Given the description of an element on the screen output the (x, y) to click on. 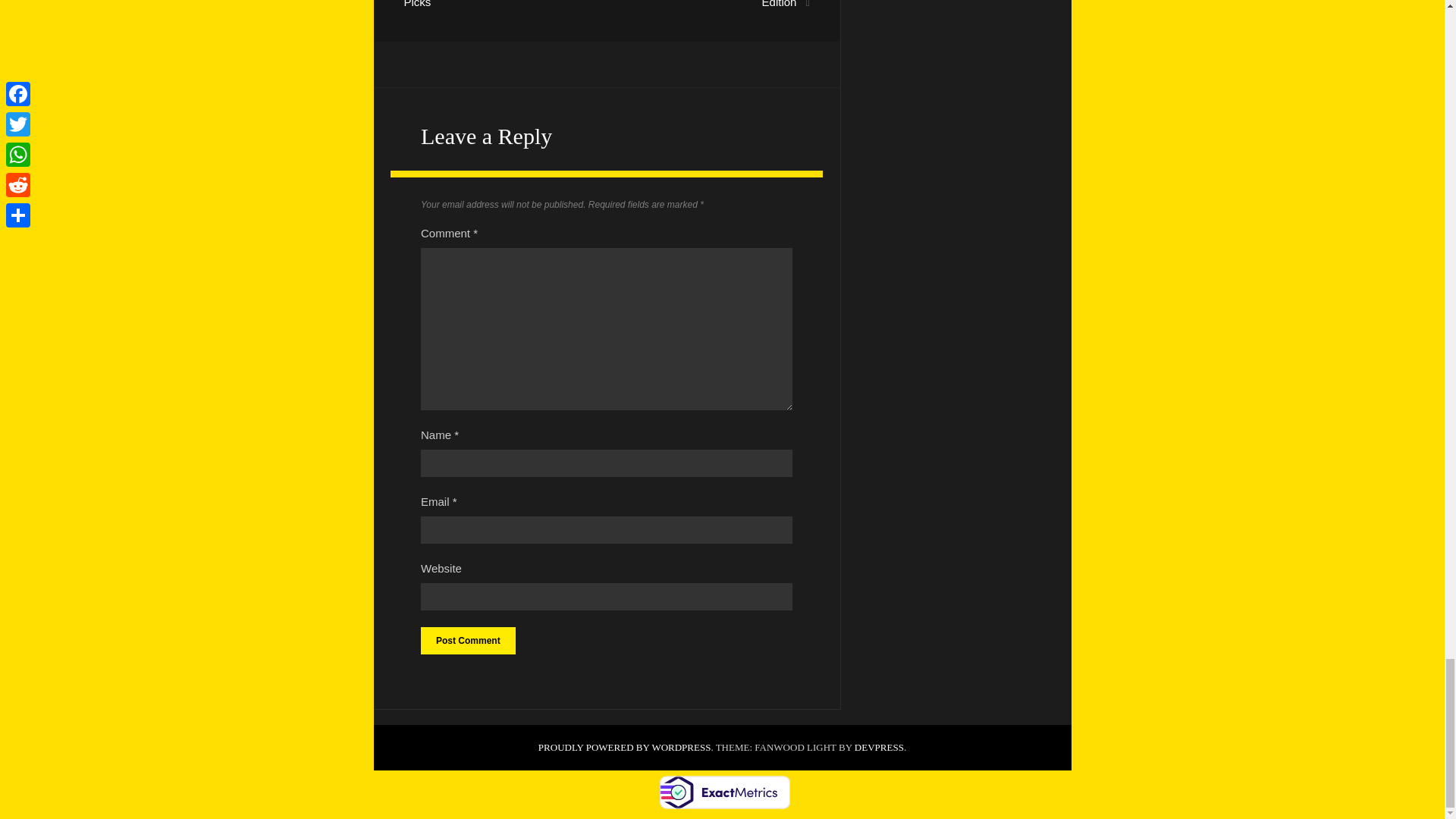
Post Comment (467, 640)
